Given the description of an element on the screen output the (x, y) to click on. 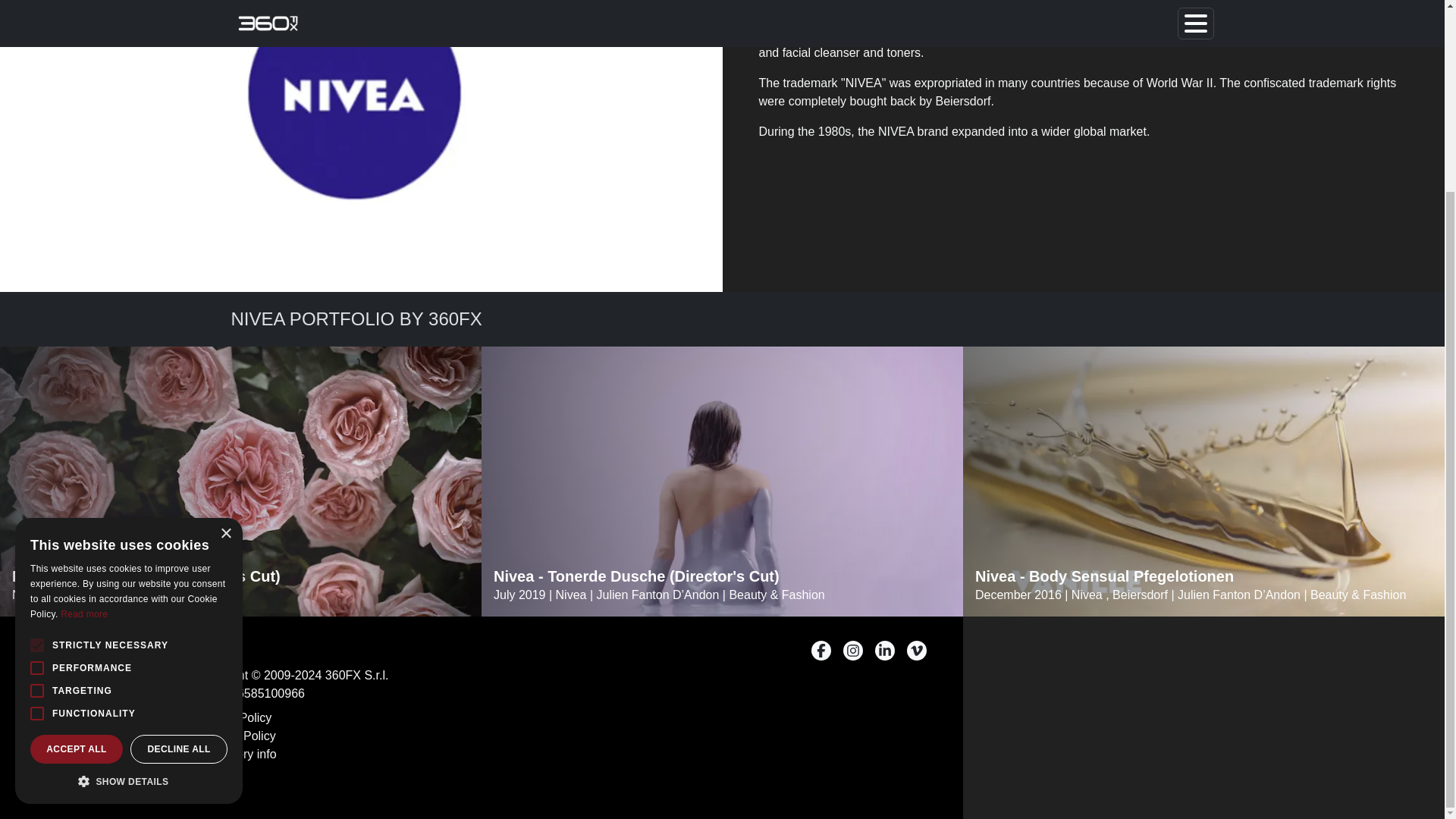
Mandatory info (236, 754)
Cookies Policy (236, 736)
Privacy Policy (234, 718)
linkedin (885, 650)
Privacy Policy (234, 718)
Mandatory info (236, 754)
Cookies Policy (236, 736)
vimeo (916, 650)
facebook (820, 650)
instagram (853, 650)
Read more (84, 374)
